Given the description of an element on the screen output the (x, y) to click on. 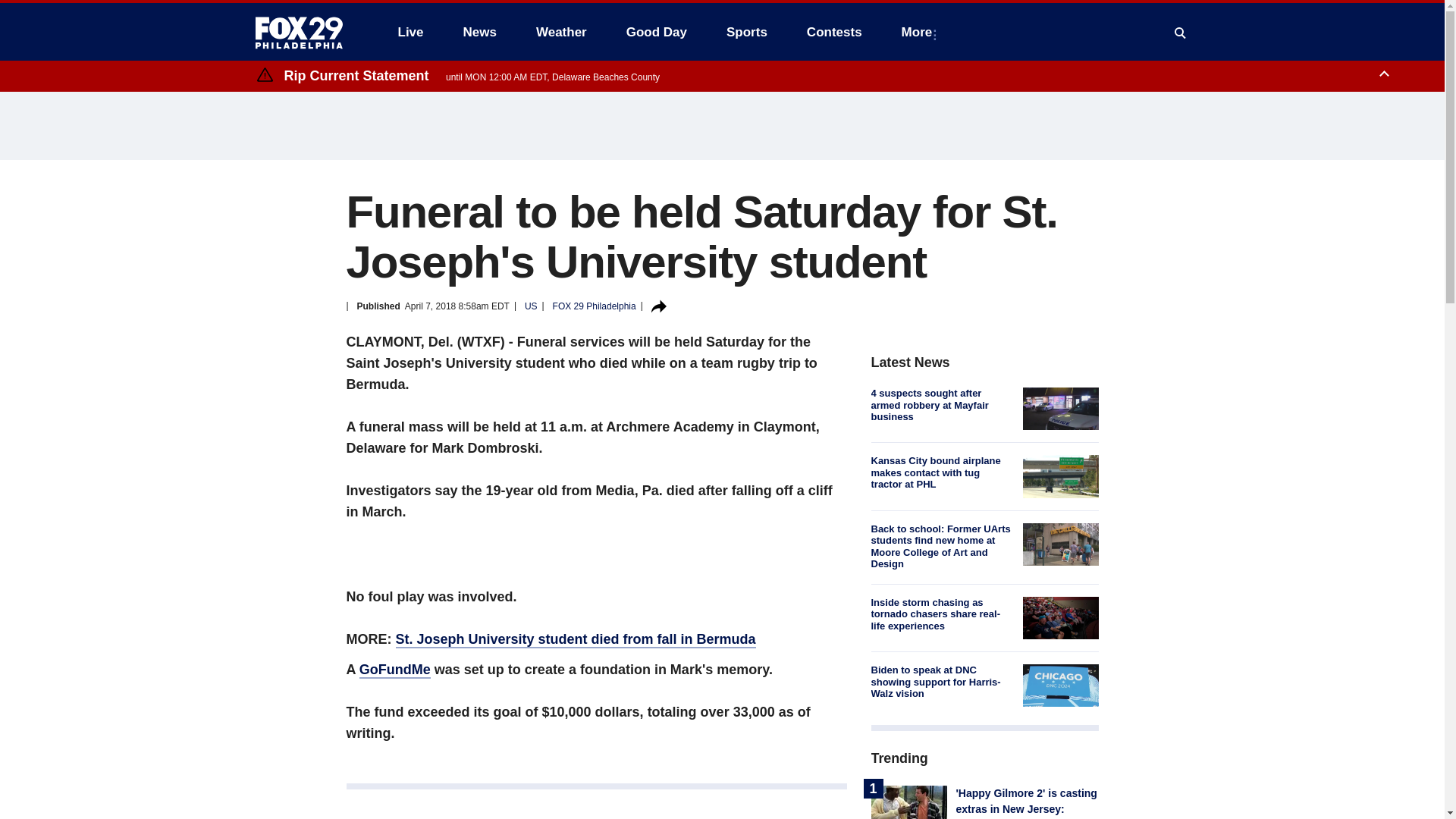
Live (410, 32)
Good Day (656, 32)
News (479, 32)
Sports (746, 32)
More (919, 32)
Weather (561, 32)
Contests (834, 32)
